Given the description of an element on the screen output the (x, y) to click on. 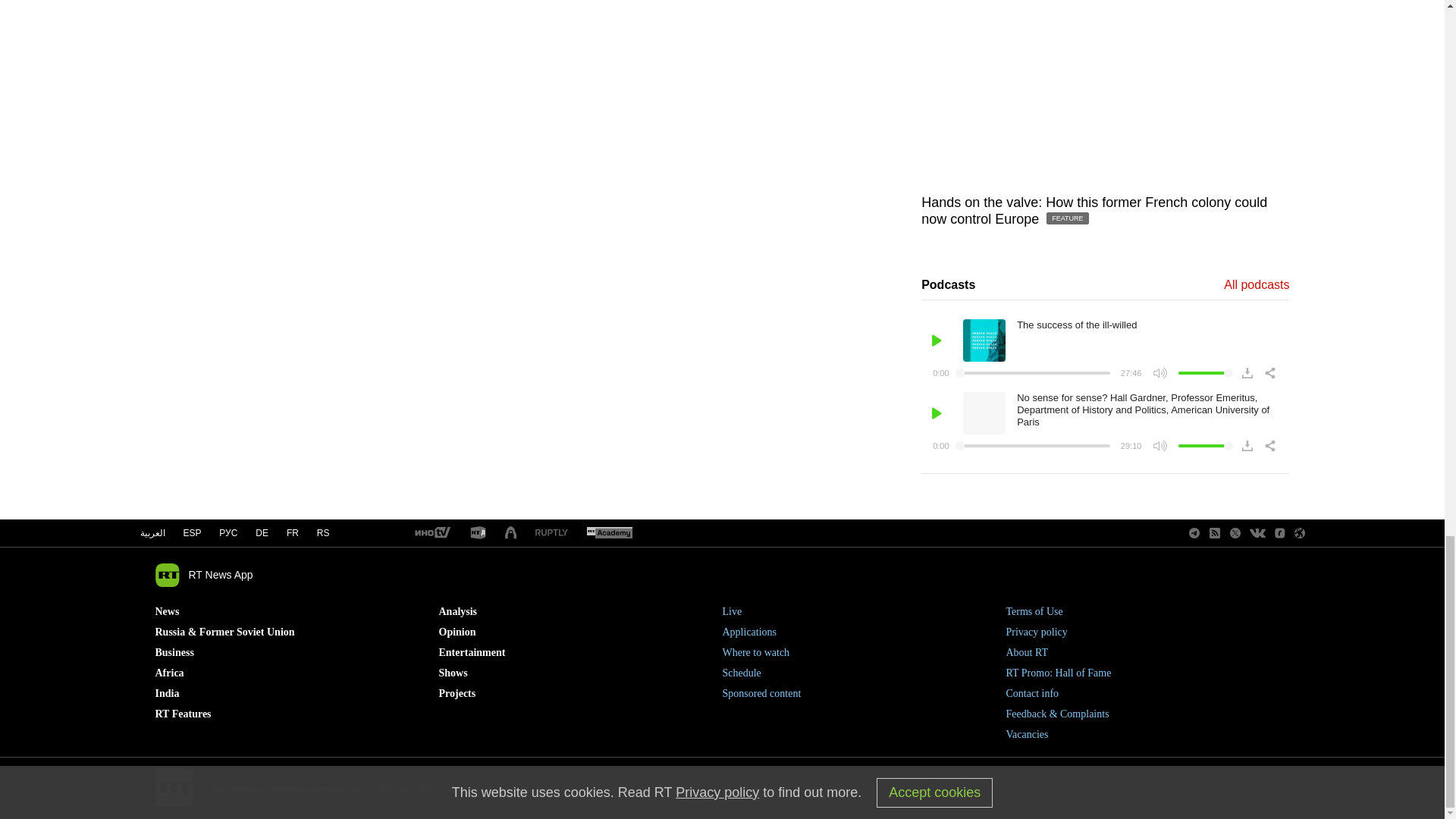
RT  (478, 533)
RT  (551, 533)
RT  (608, 533)
RT  (431, 533)
